Given the description of an element on the screen output the (x, y) to click on. 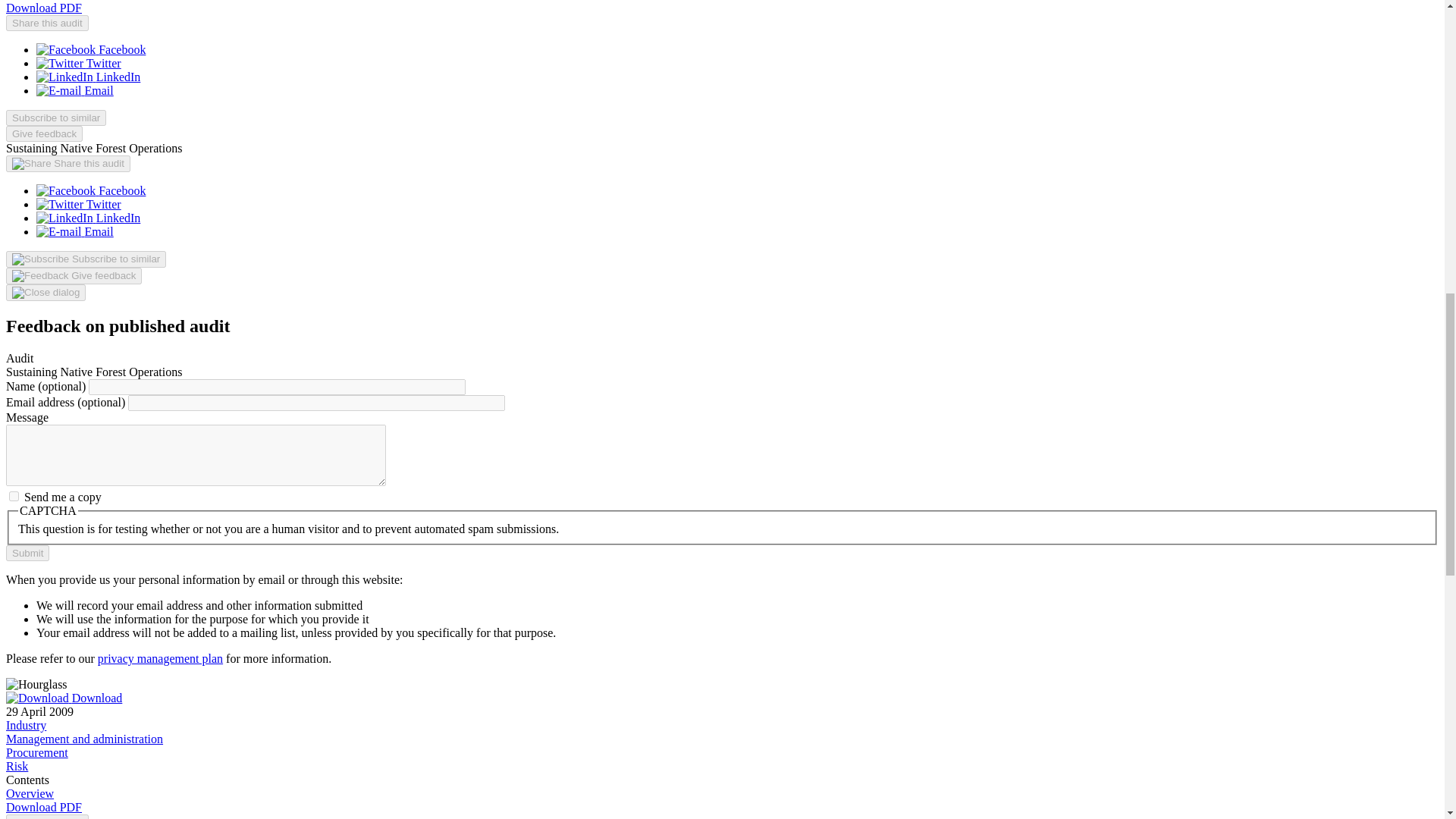
Share page on Facebook (90, 190)
Share page via Email (74, 90)
Share page on Facebook (90, 49)
Share page via Email (74, 231)
1 (13, 496)
Share page on Twitter (78, 204)
Submit (27, 553)
Share page on Twitter (78, 62)
Share page on LinkedIn (87, 76)
Share page on LinkedIn (87, 217)
